Given the description of an element on the screen output the (x, y) to click on. 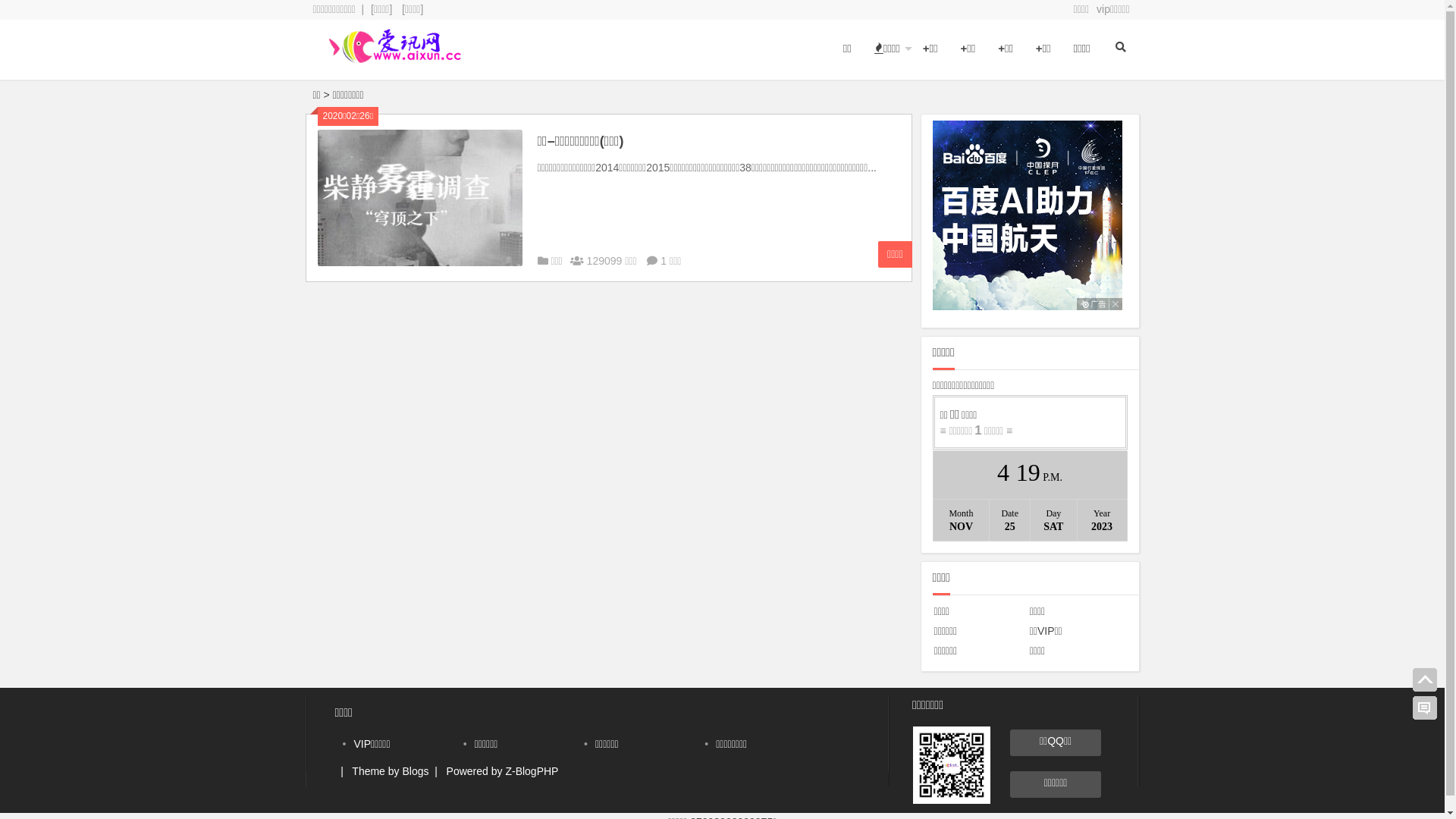
Z-BlogPHP Element type: text (531, 771)
Blogs Element type: text (414, 771)
